Given the description of an element on the screen output the (x, y) to click on. 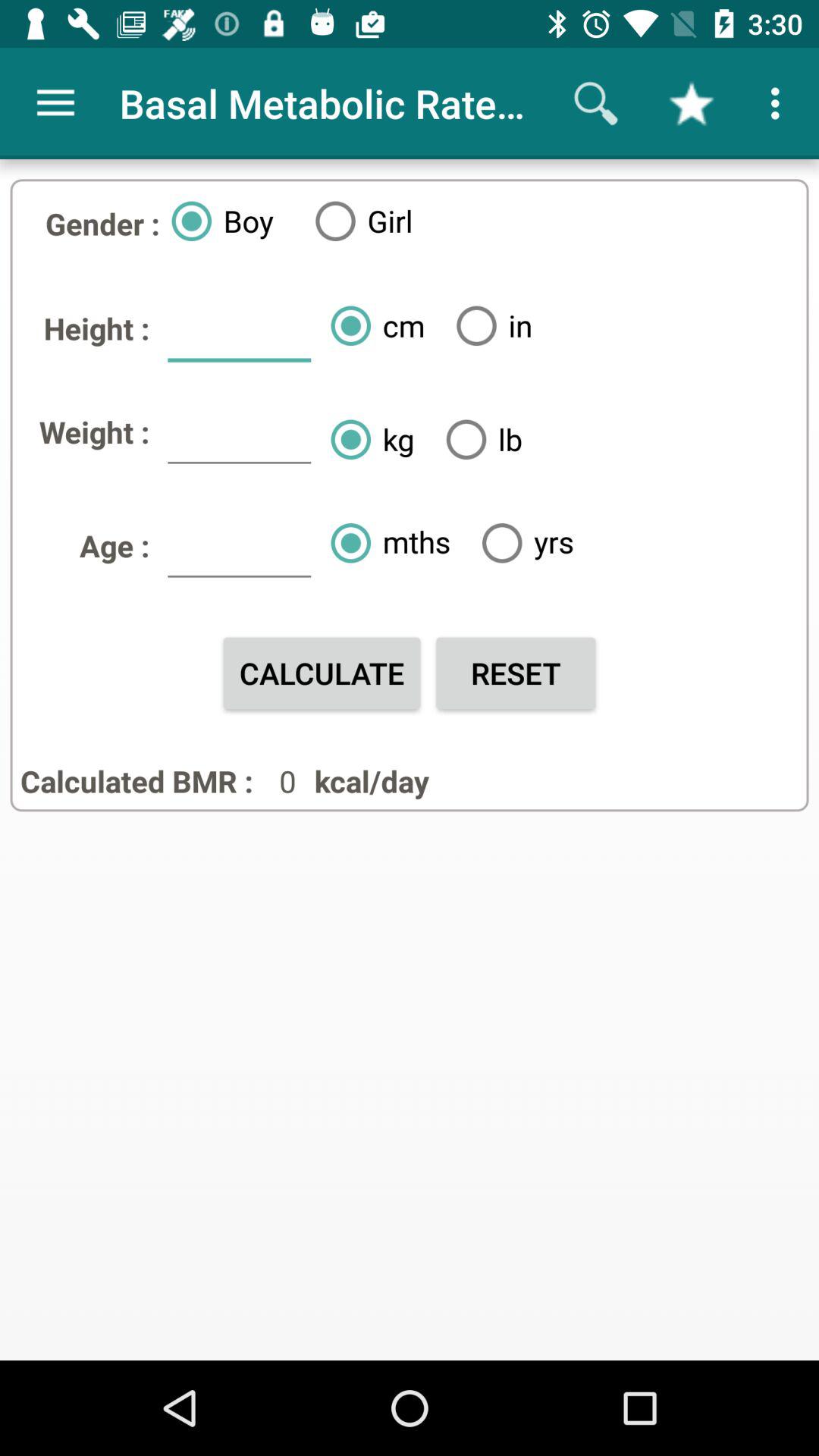
press icon above the gender : icon (55, 103)
